Given the description of an element on the screen output the (x, y) to click on. 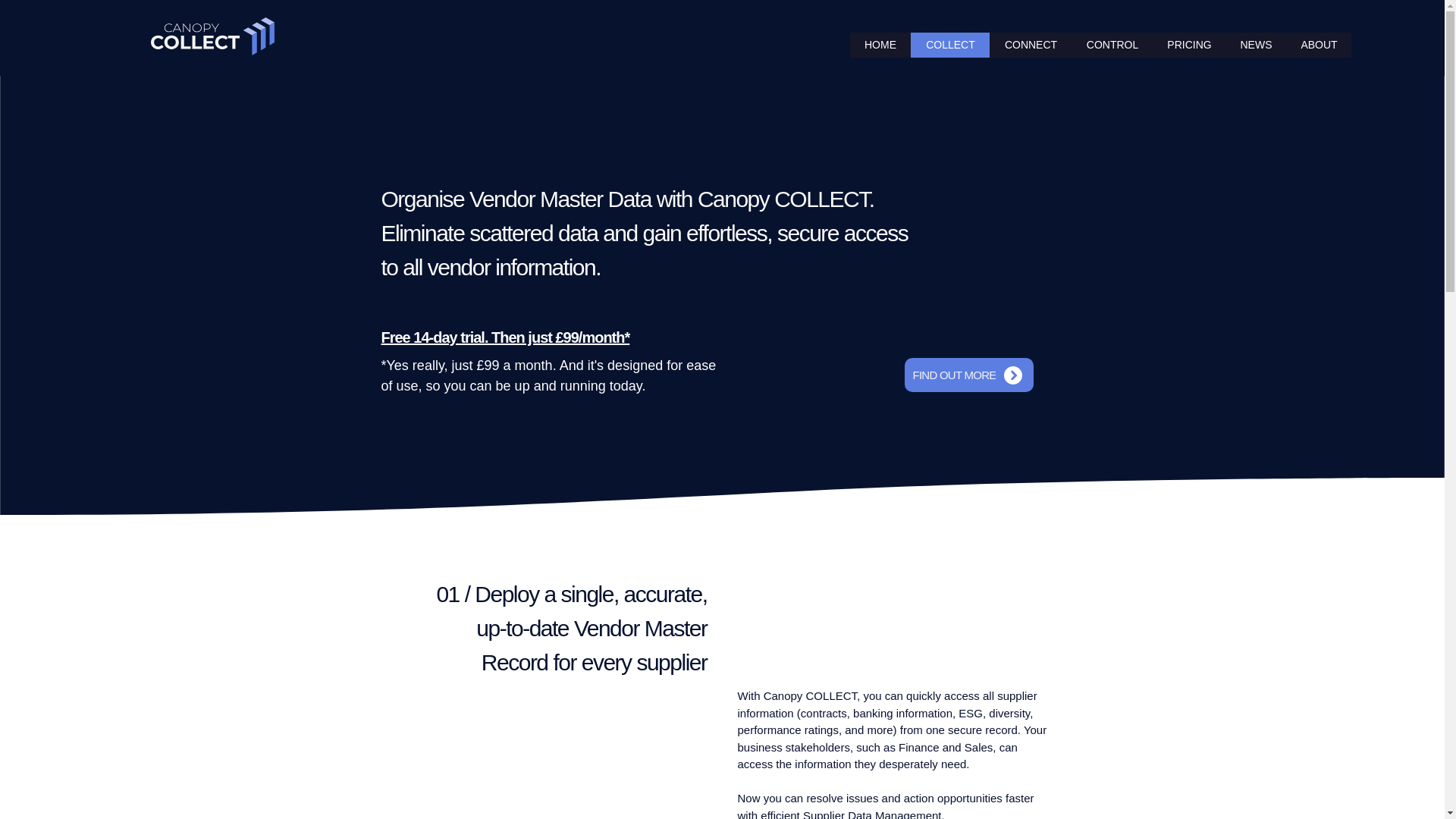
CONTROL (1112, 44)
COLLECT (950, 44)
ABOUT (1318, 44)
CONNECT (1030, 44)
PRICING (1189, 44)
NEWS (1255, 44)
HOME (880, 44)
FIND OUT MORE (968, 374)
